Given the description of an element on the screen output the (x, y) to click on. 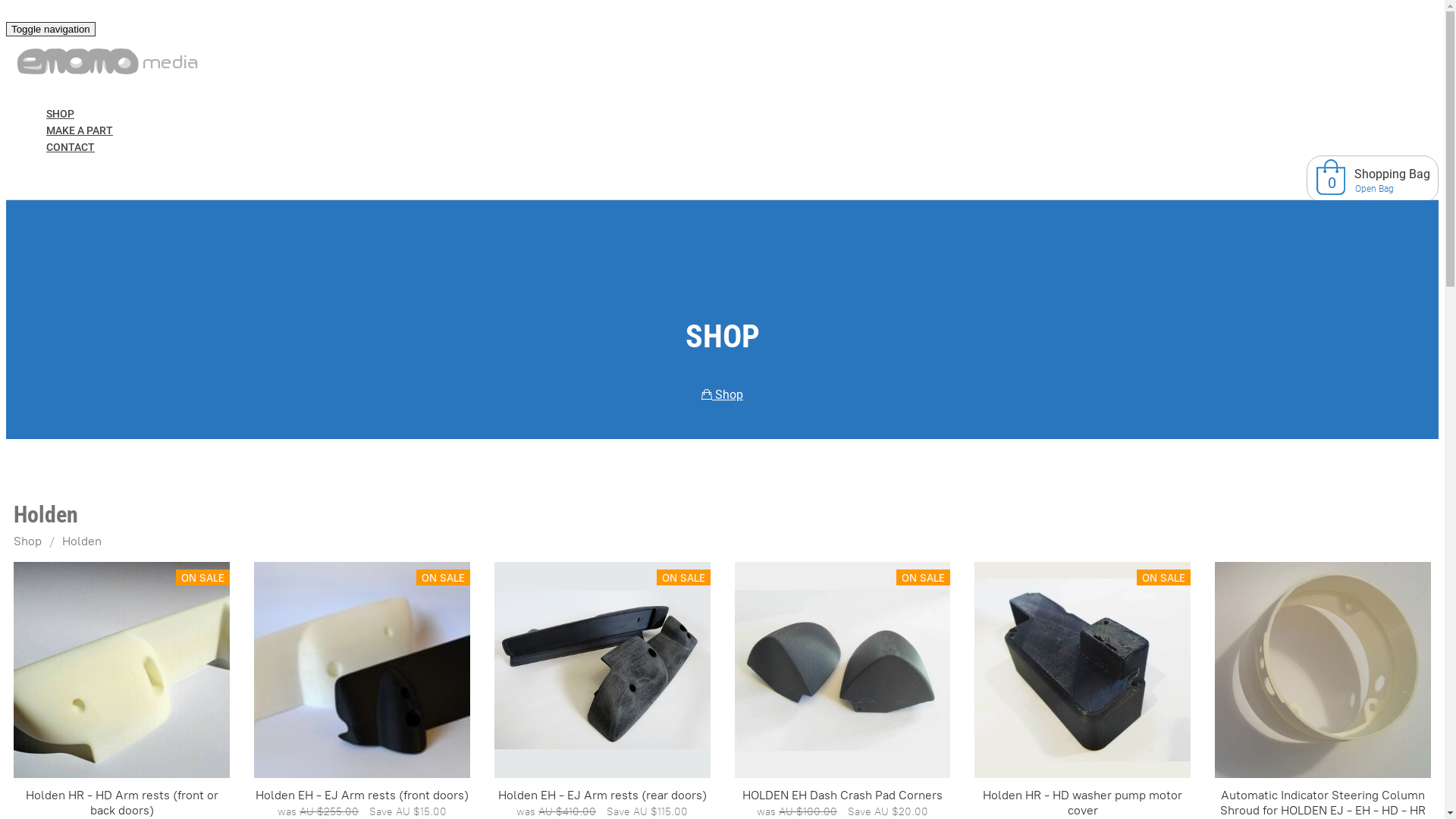
Toggle navigation Element type: text (50, 28)
HOLDEN EH Dash Crash Pad Corners Element type: text (842, 795)
Holden HR - HD washer pump motor cover Element type: hover (1082, 669)
Shop Element type: text (27, 540)
Holden Element type: text (81, 540)
Holden EH - EJ Arm rests (rear doors) Element type: hover (602, 669)
ON SALE Element type: text (362, 669)
ON SALE Element type: text (842, 669)
Holden EH - EJ Arm rests (front doors) Element type: hover (362, 669)
SHOP Element type: text (60, 114)
Holden EH - EJ Arm rests (rear doors) Element type: text (602, 795)
CONTACT Element type: text (70, 147)
ON SALE Element type: text (1082, 669)
MAKE A PART Element type: text (79, 131)
emomo Media logo Element type: hover (108, 62)
ON SALE Element type: text (602, 669)
HOLDEN EH Dash Crash Pad Corners Element type: hover (842, 669)
Holden EH - EJ Arm rests (front doors) Element type: text (362, 795)
Shop Element type: text (722, 394)
ON SALE Element type: text (121, 669)
